Given the description of an element on the screen output the (x, y) to click on. 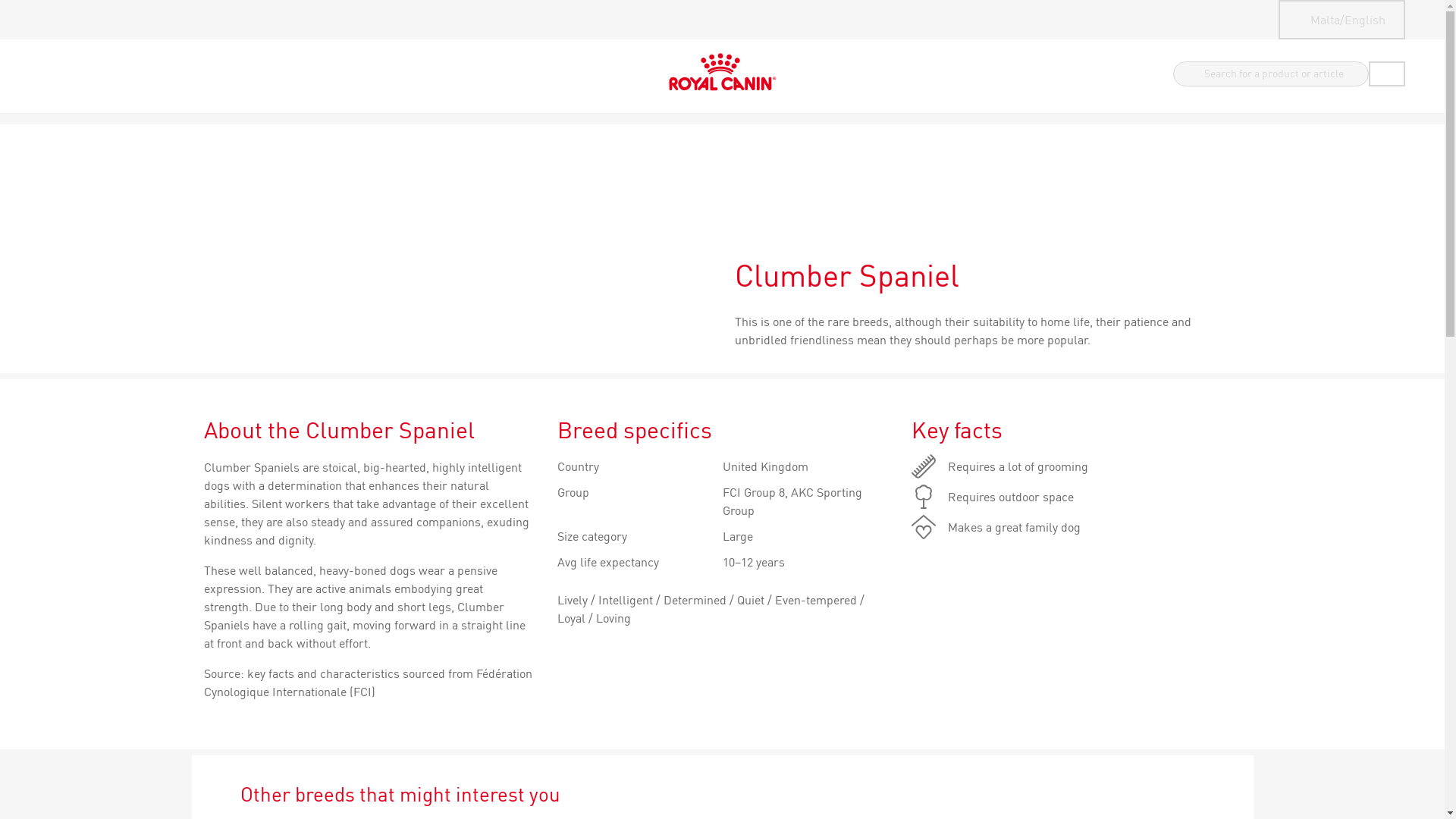
Search for a product or article (1270, 73)
